Given the description of an element on the screen output the (x, y) to click on. 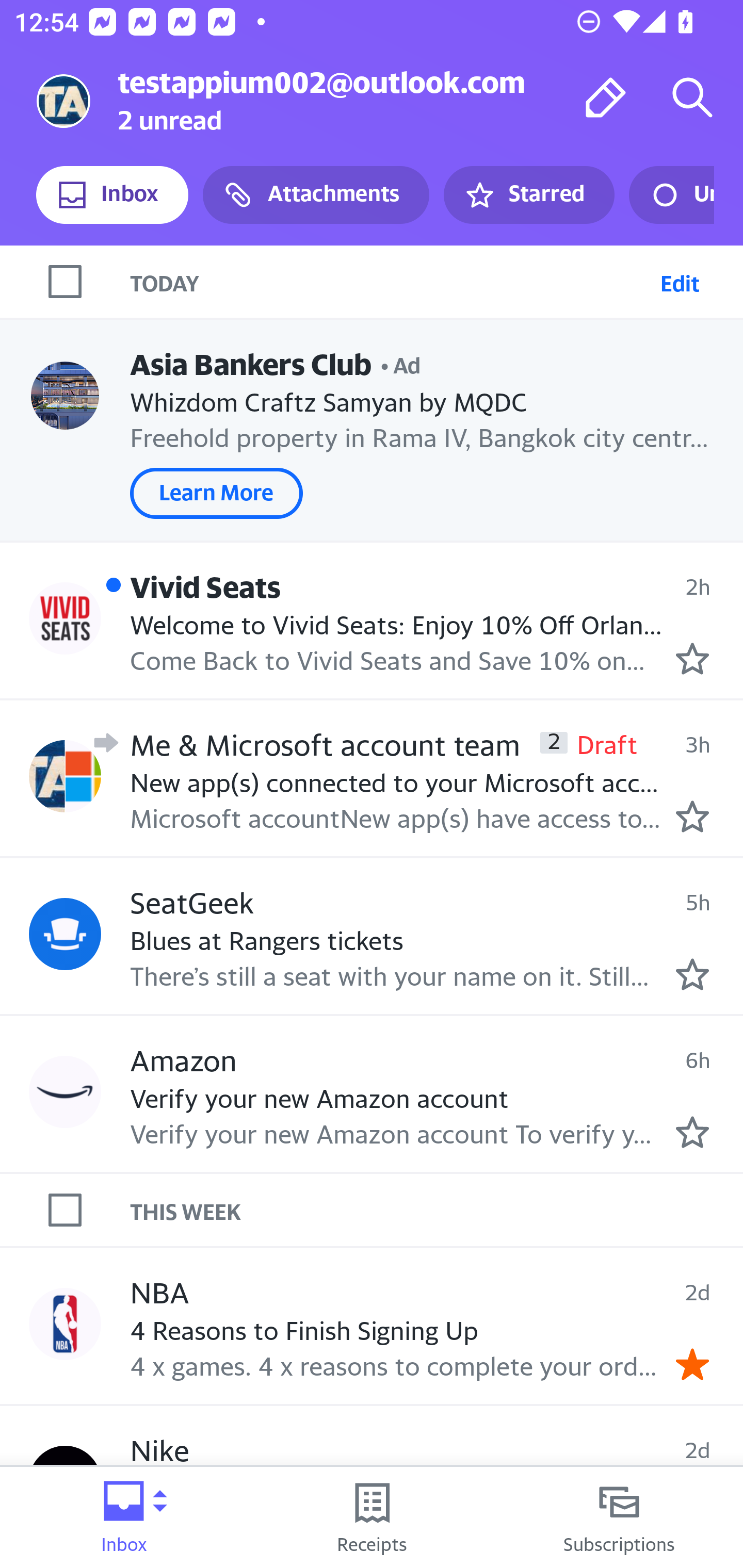
Compose (605, 97)
Search mail (692, 97)
Attachments (315, 195)
Starred (528, 195)
TODAY (391, 281)
Edit Select emails (679, 281)
Profile
Vivid Seats (64, 617)
Mark as starred. (692, 659)
Profile
Me & Microsoft account team (64, 776)
Mark as starred. (692, 816)
Profile
SeatGeek (64, 934)
Mark as starred. (692, 974)
Profile
Amazon (64, 1091)
Mark as starred. (692, 1132)
THIS WEEK (436, 1209)
Profile
NBA (64, 1323)
Remove star. (692, 1364)
Inbox Folder picker (123, 1517)
Receipts (371, 1517)
Subscriptions (619, 1517)
